Given the description of an element on the screen output the (x, y) to click on. 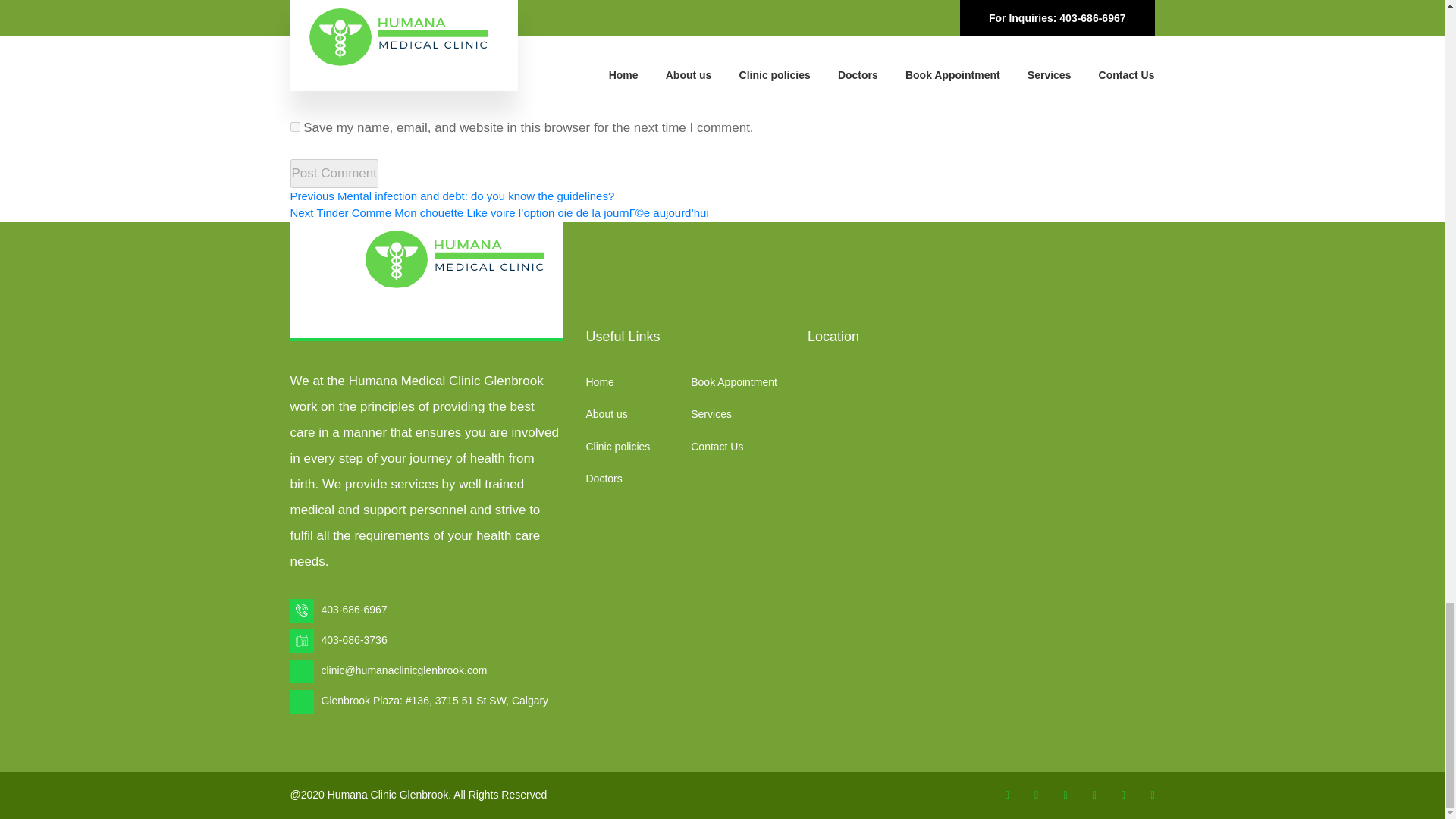
Book Appointment (733, 381)
Services (711, 413)
Contact Us (716, 446)
Clinic policies (617, 446)
Post Comment (333, 173)
Home (598, 381)
About us (606, 413)
Doctors (603, 478)
yes (294, 126)
Post Comment (333, 173)
